Given the description of an element on the screen output the (x, y) to click on. 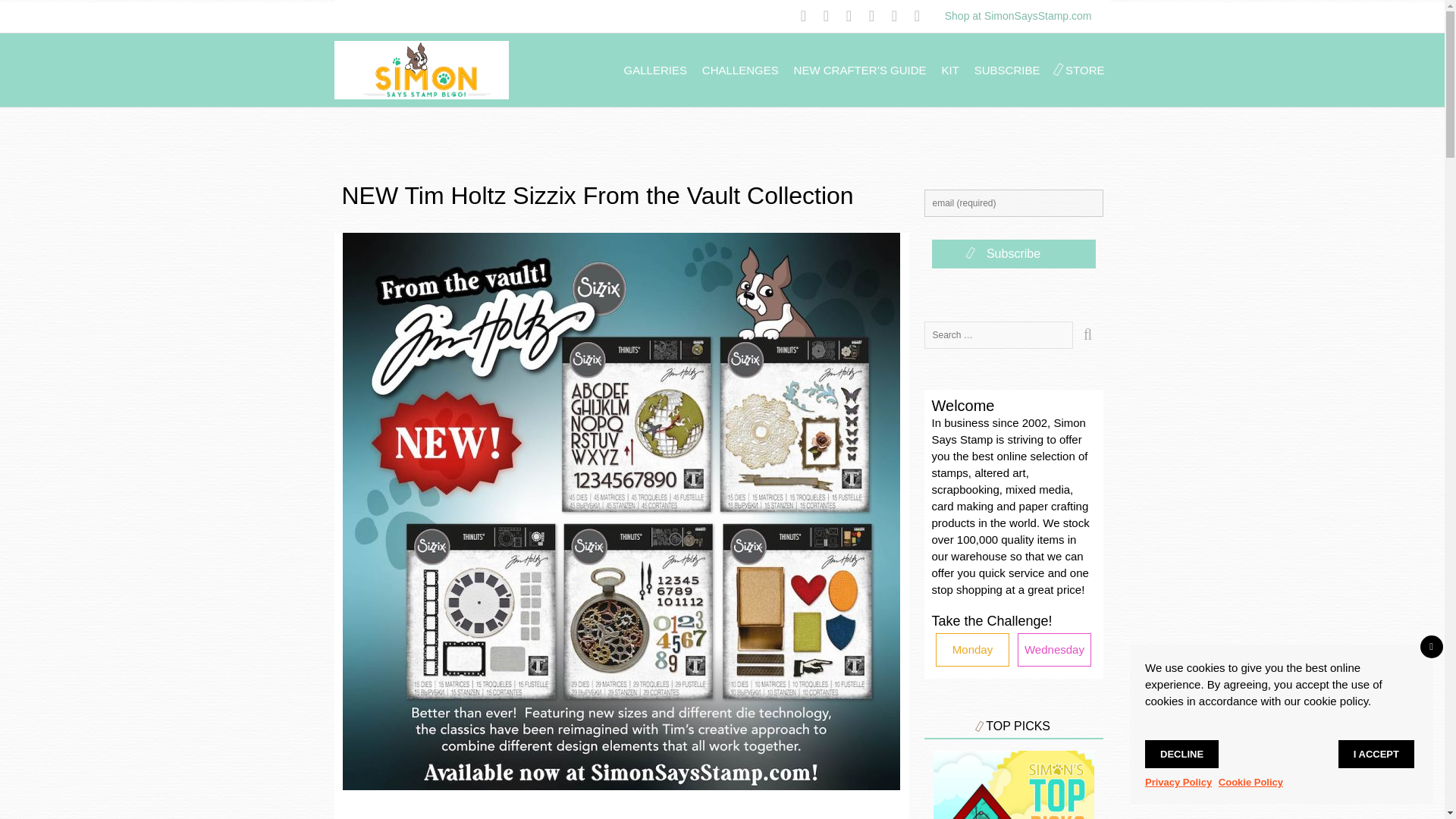
GALLERIES (655, 69)
Search (1086, 334)
Search (1086, 334)
STORE (1084, 69)
SUBSCRIBE (1007, 69)
Shop at SimonSaysStamp.com (1018, 15)
CHALLENGES (739, 69)
Subscribe (1012, 253)
KIT (950, 69)
